Given the description of an element on the screen output the (x, y) to click on. 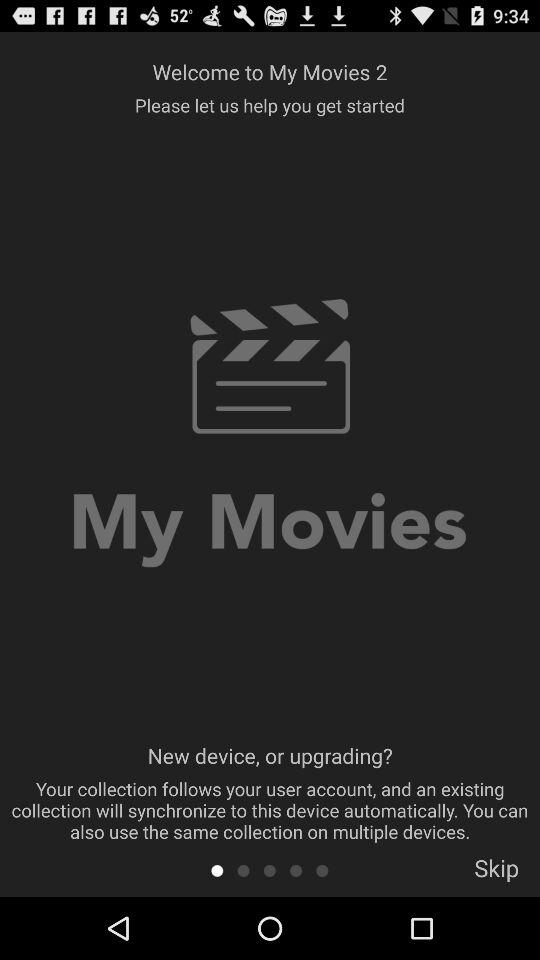
move ahead (269, 870)
